Given the description of an element on the screen output the (x, y) to click on. 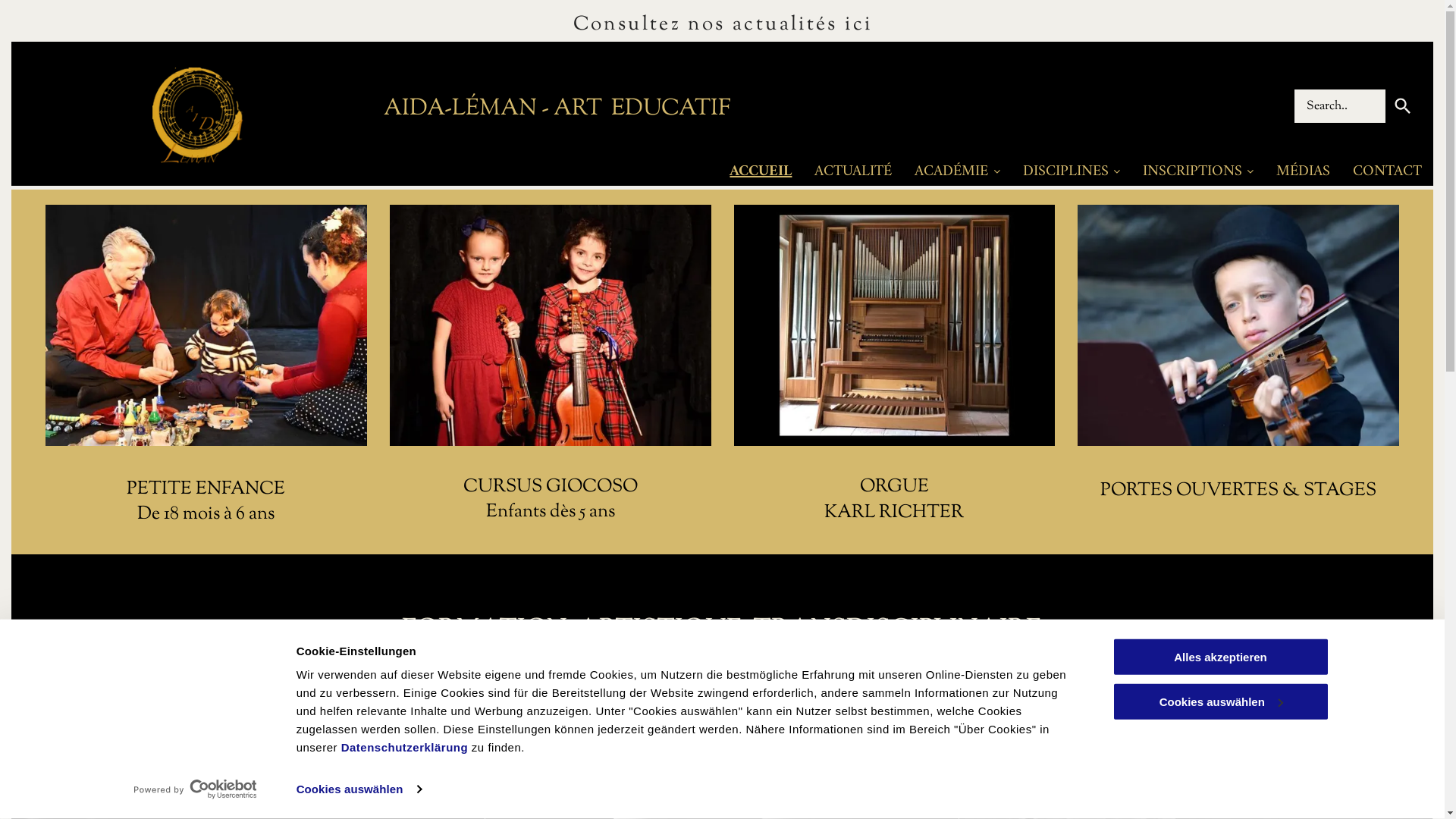
PORTES OUVERTES & STAGES Element type: text (1238, 490)
KARL RICHTER Element type: text (893, 512)
DISCIPLINES Element type: text (1071, 172)
ACCUEIL Element type: text (760, 172)
CONTACT Element type: text (1386, 172)
Alles akzeptieren Element type: text (1219, 656)
PETITE ENFANCE Element type: text (205, 489)
INSCRIPTIONS Element type: text (1197, 172)
ORGUE Element type: text (893, 486)
CURSUS GIOCOSO Element type: text (550, 486)
